Given the description of an element on the screen output the (x, y) to click on. 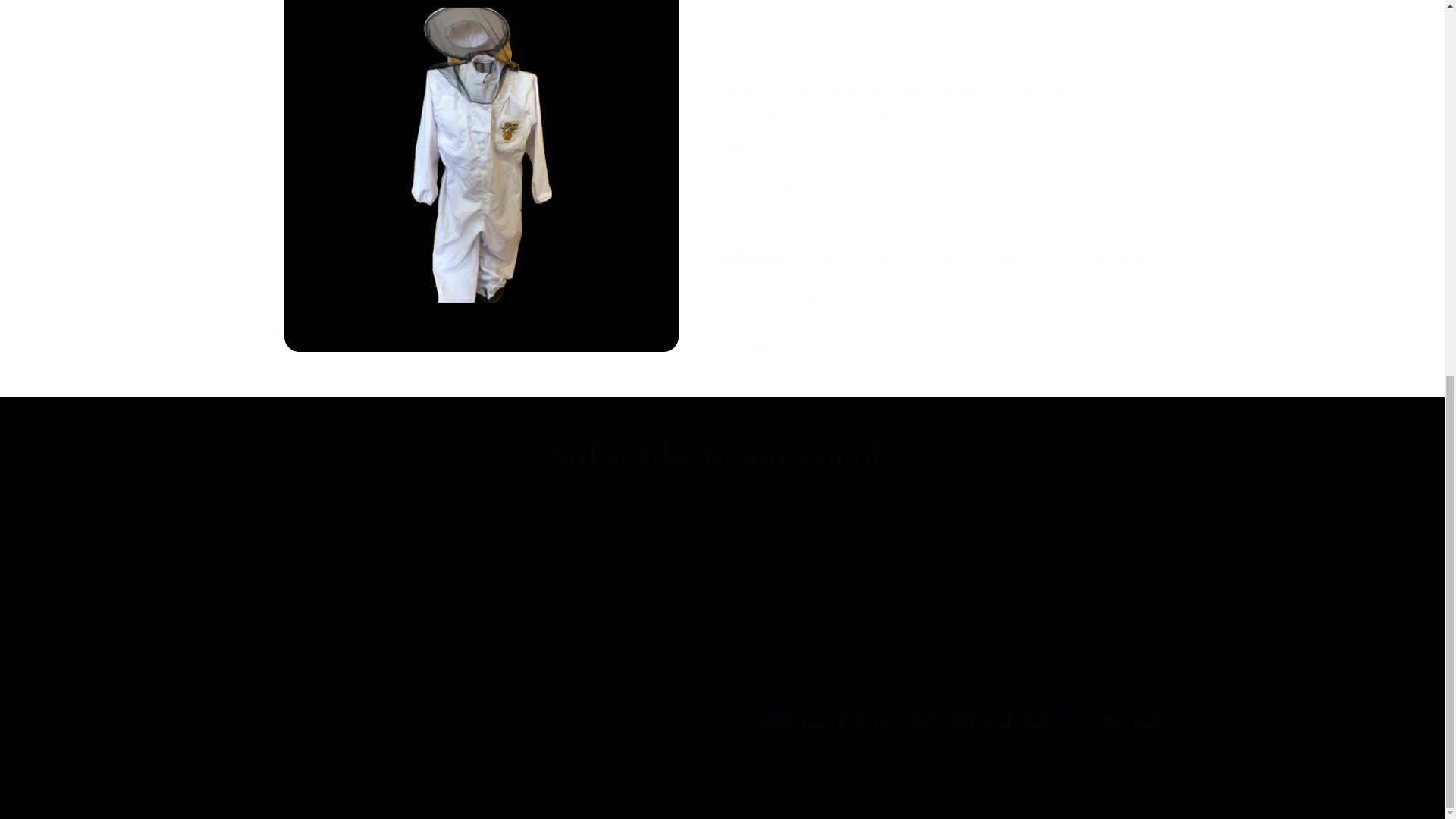
E-mail (722, 549)
Subscribe to our emails (722, 455)
